Given the description of an element on the screen output the (x, y) to click on. 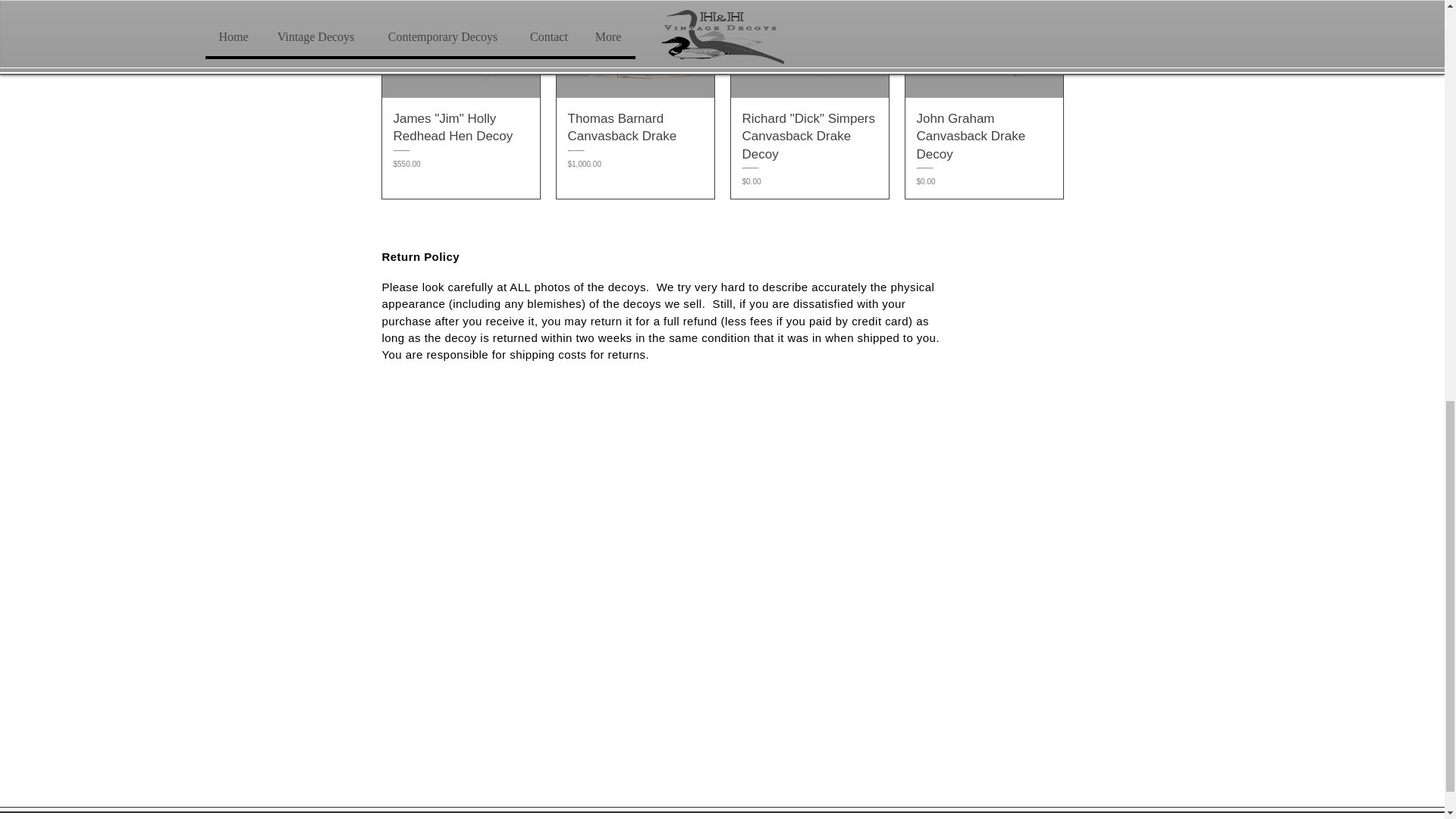
SOLD (983, 48)
New Arrival (635, 48)
SOLD (809, 48)
New Arrival (460, 48)
